Given the description of an element on the screen output the (x, y) to click on. 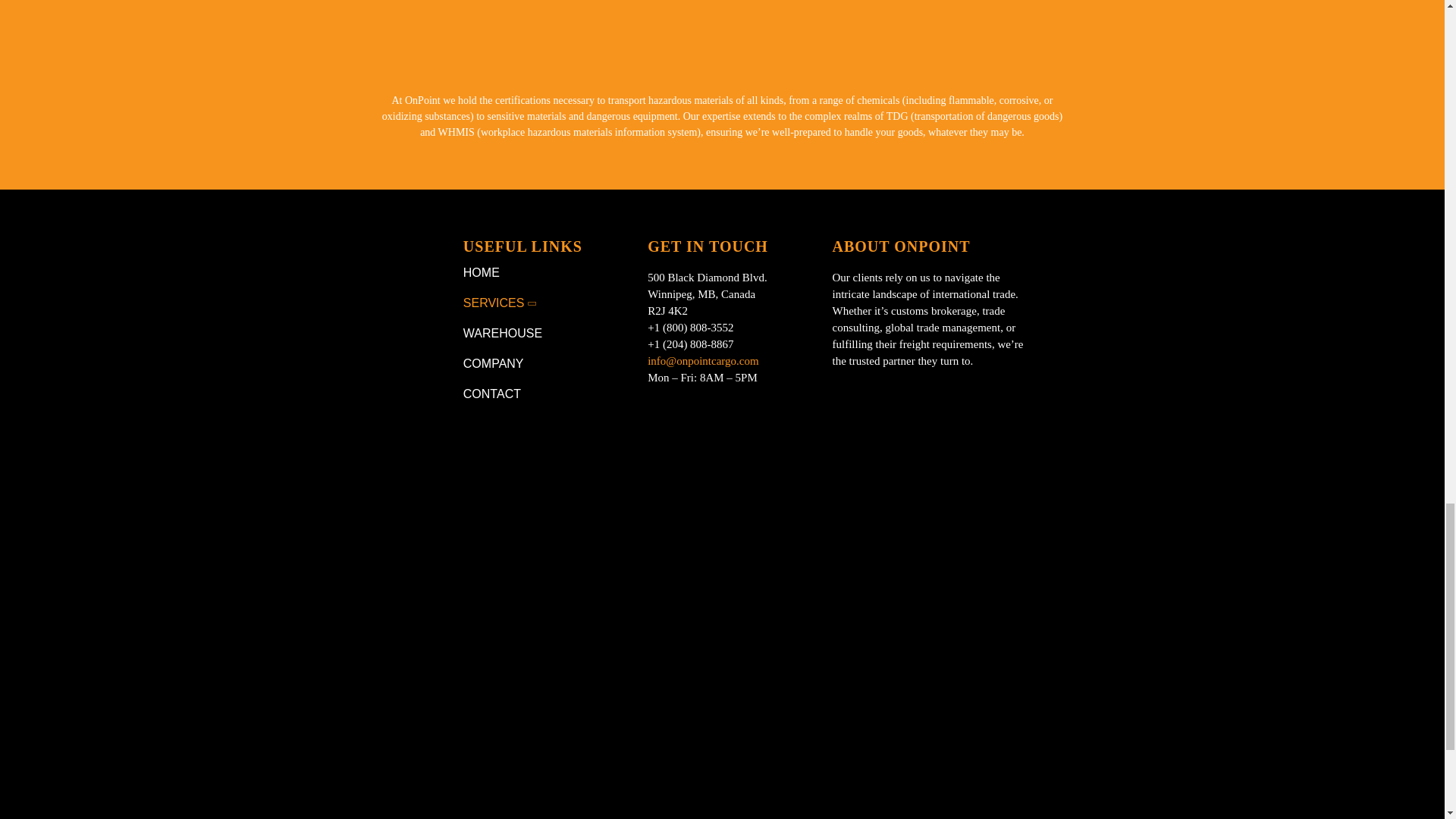
SERVICES (537, 303)
HOME (537, 272)
